Given the description of an element on the screen output the (x, y) to click on. 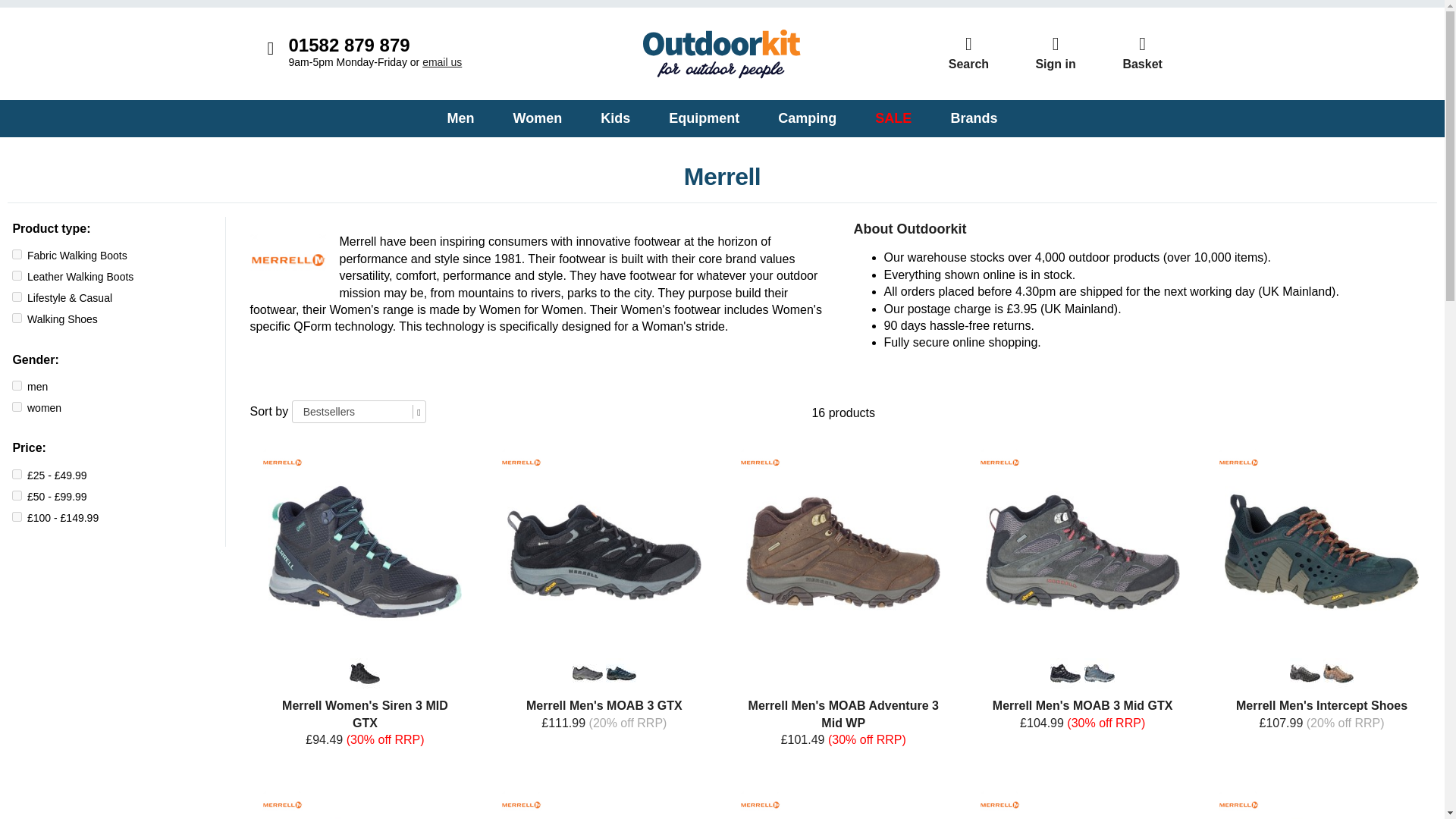
on (16, 275)
on (16, 317)
Merrell Men's MOAB 3 Mid GTX (1099, 673)
Merrell Men's MOAB 3 GTX (620, 673)
on (16, 516)
on (16, 495)
on (16, 254)
Merrell Men's MOAB 3 GTX (587, 673)
Merrell Men's Intercept Shoes (1338, 673)
Merrell Men's MOAB 3 Mid GTX (1064, 673)
on (16, 474)
on (16, 406)
Merrell Women's Siren 3 MID GTX (364, 673)
Merrell Men's Intercept Shoes (1305, 673)
View Cart (1141, 53)
